Given the description of an element on the screen output the (x, y) to click on. 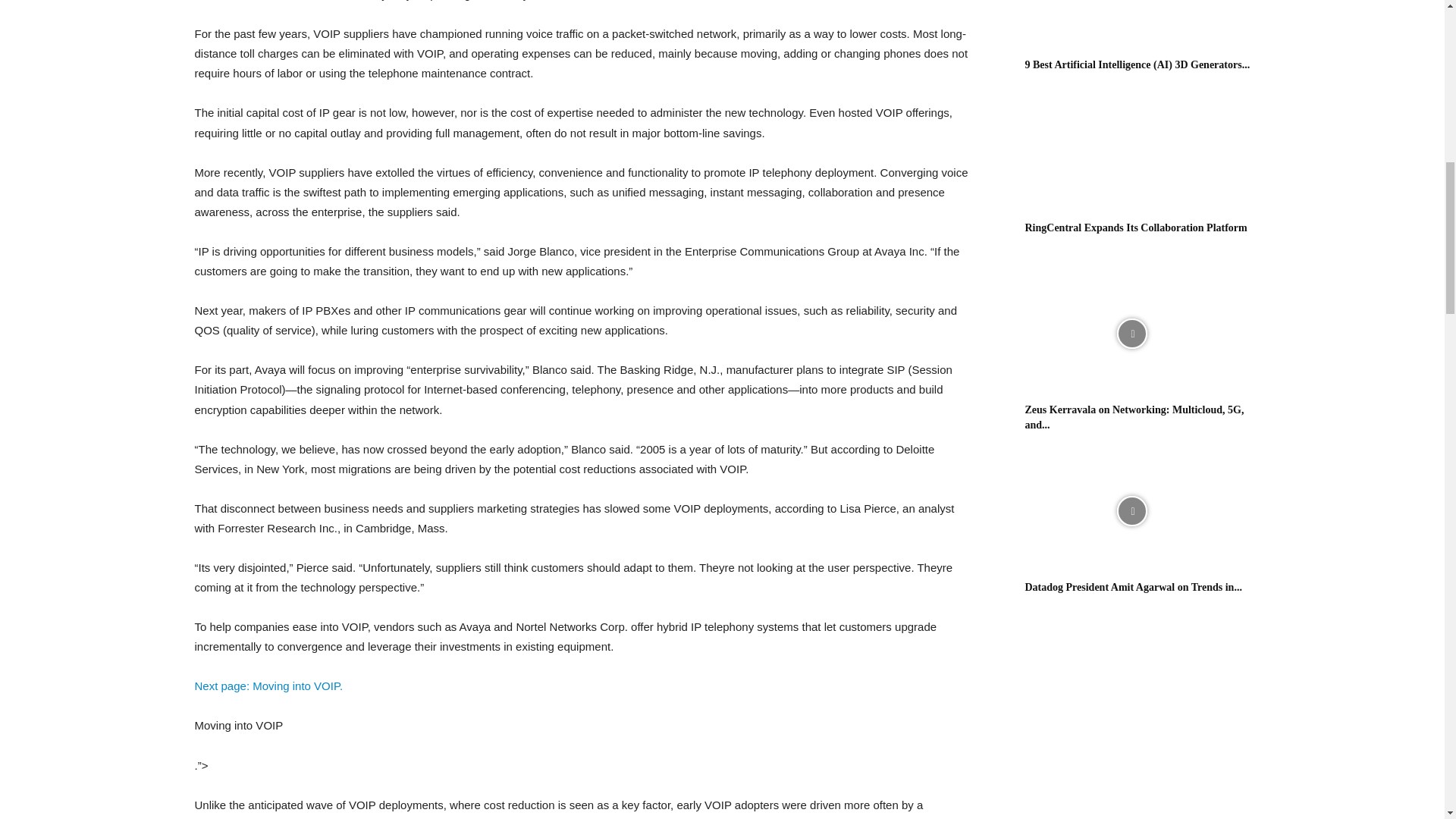
Zeus Kerravala on Networking: Multicloud, 5G, and Automation (1131, 333)
RingCentral Expands Its Collaboration Platform (1136, 227)
Zeus Kerravala on Networking: Multicloud, 5G, and Automation (1134, 417)
RingCentral Expands Its Collaboration Platform (1131, 151)
